Given the description of an element on the screen output the (x, y) to click on. 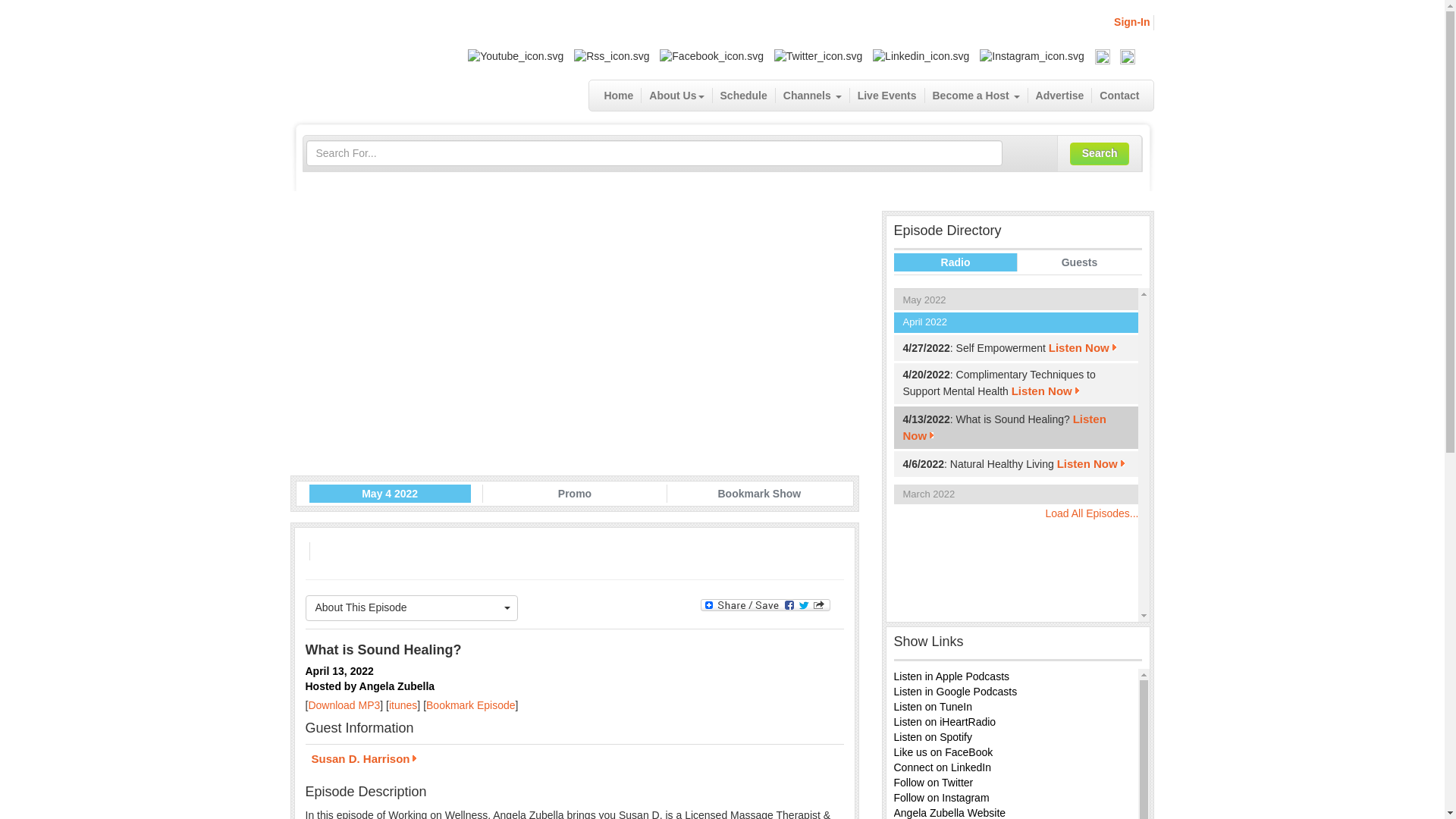
About This Episode (411, 607)
Become a Host (975, 95)
Bookmark Episode (470, 705)
Sign-In (1131, 21)
itunes (402, 705)
Schedule (744, 95)
Advertise (1060, 95)
Search (1099, 153)
Promo (575, 493)
Home (618, 95)
